Given the description of an element on the screen output the (x, y) to click on. 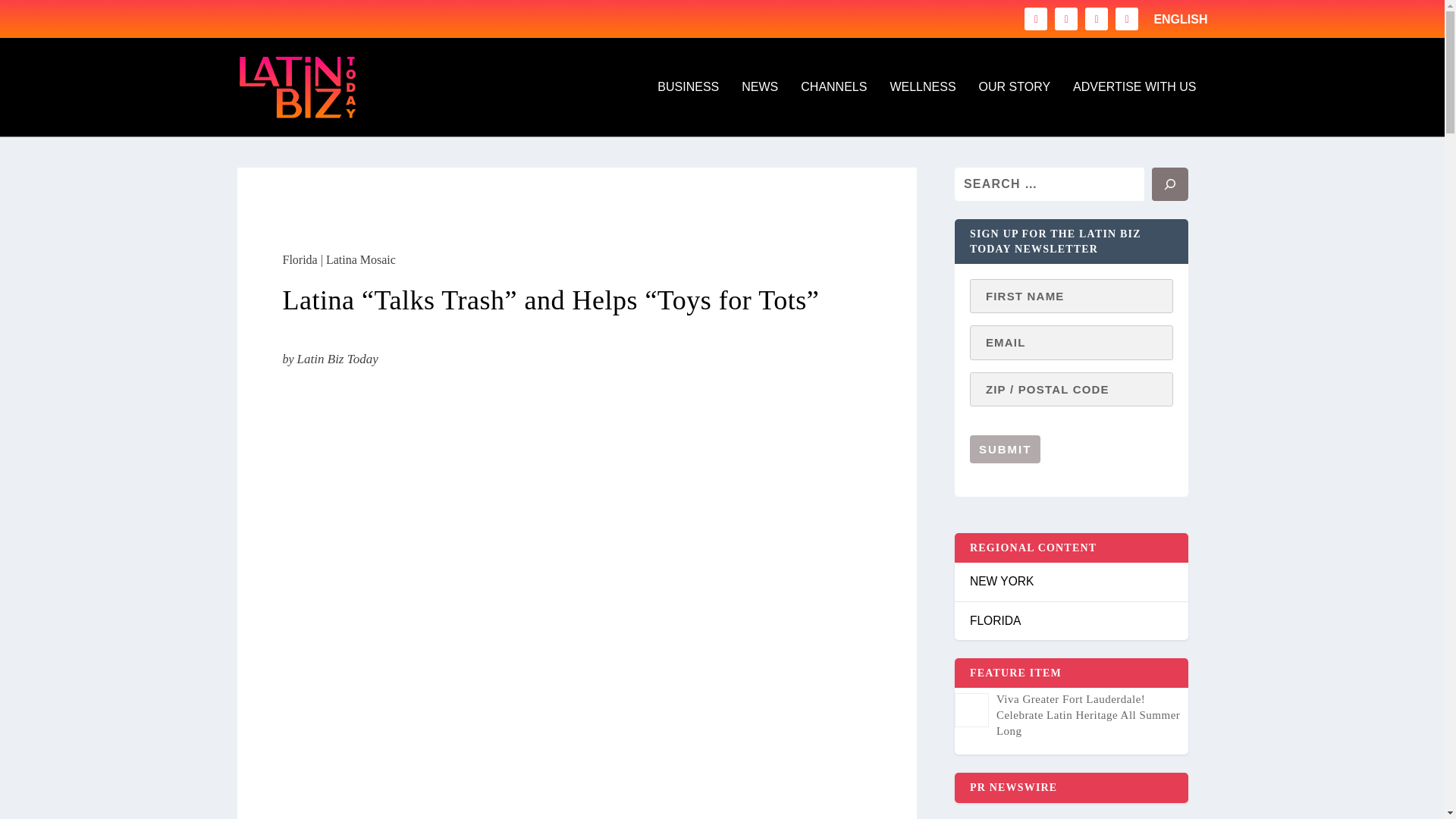
English (1180, 19)
Submit (1005, 448)
